Given the description of an element on the screen output the (x, y) to click on. 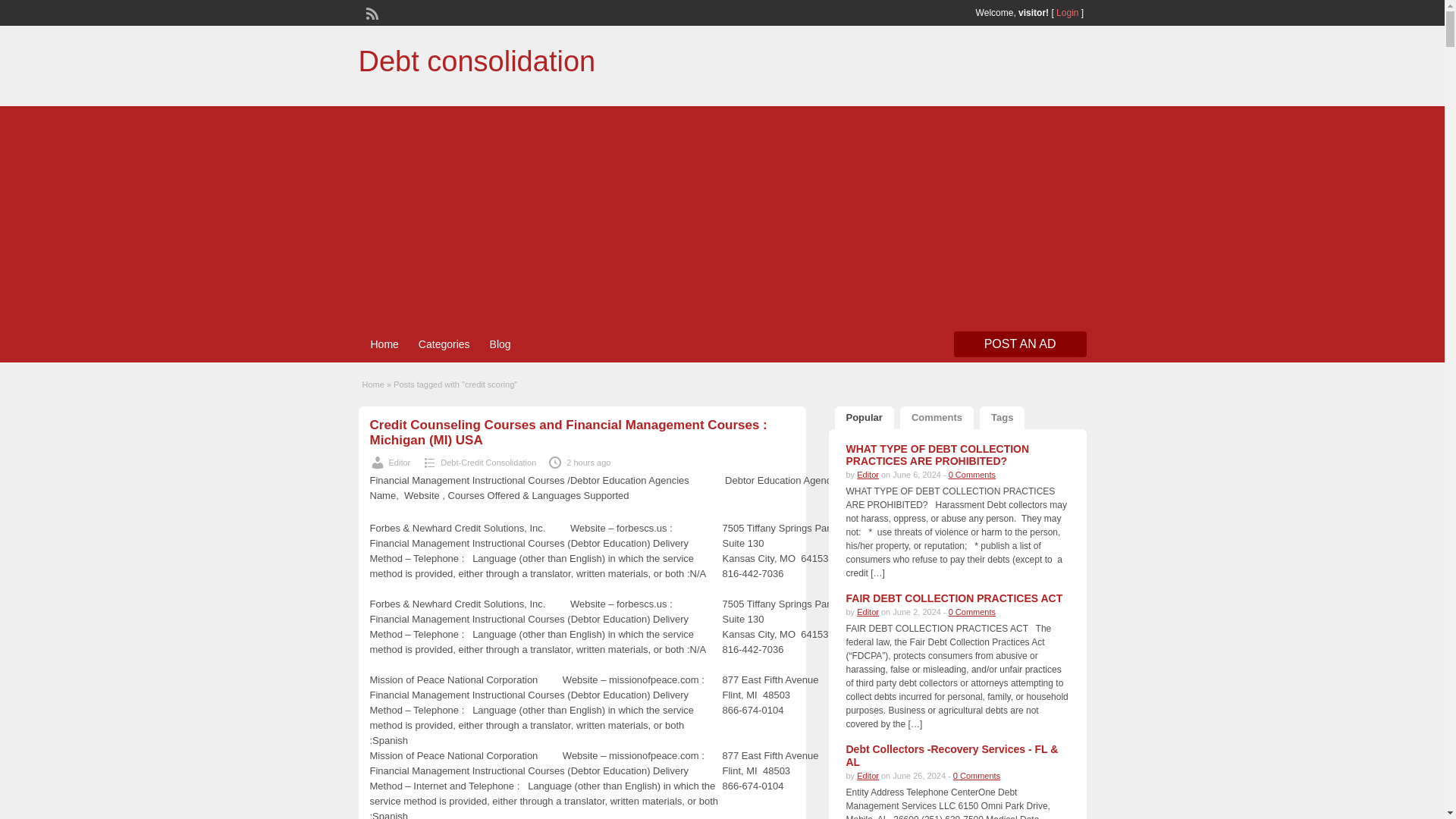
Debt consolidation (476, 60)
Login (1067, 12)
Home (384, 343)
Debt consolidation (476, 60)
RSS Feed (369, 11)
Categories (443, 343)
